Given the description of an element on the screen output the (x, y) to click on. 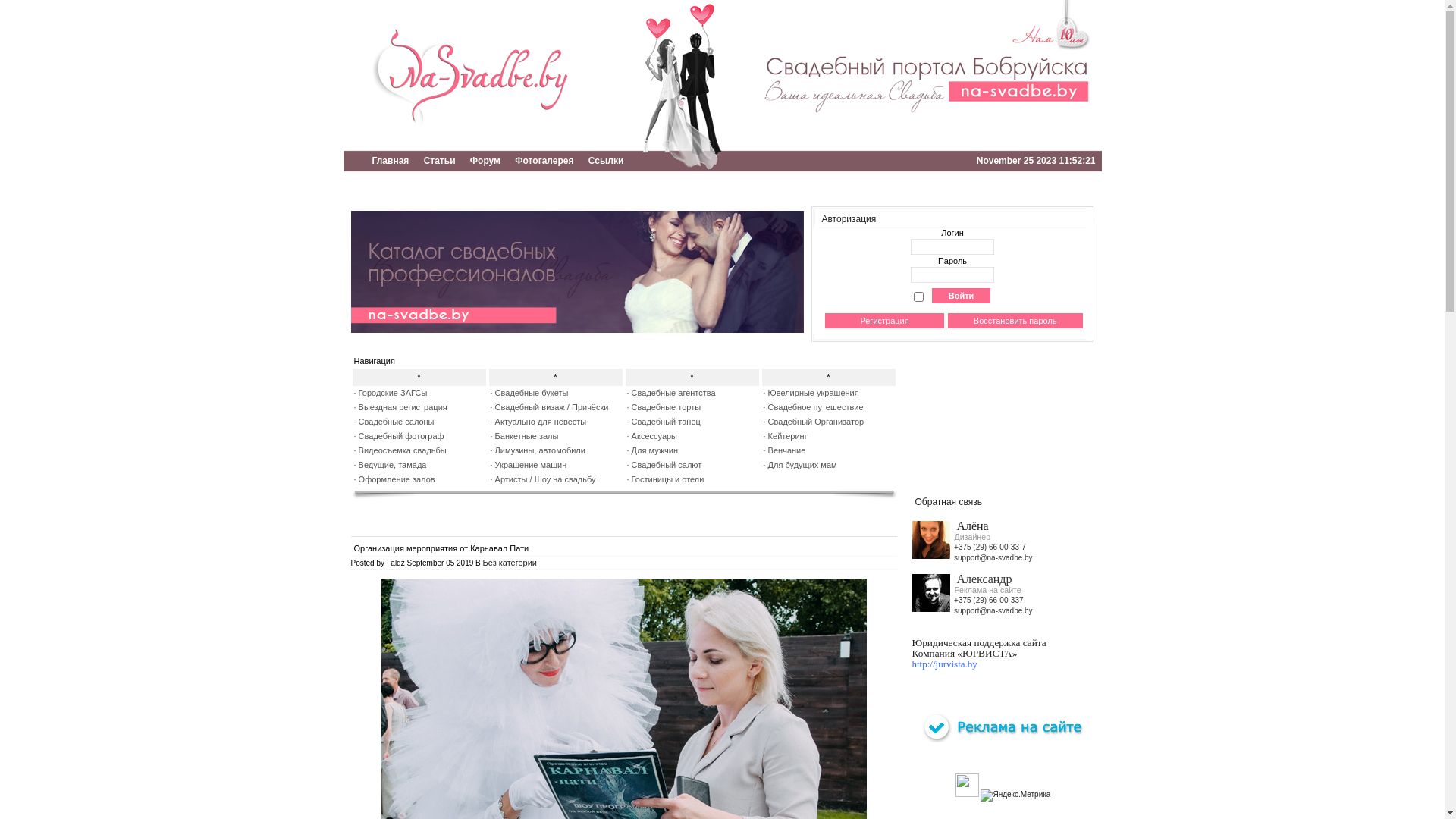
LiveInternet Element type: hover (967, 785)
3 Element type: text (396, 218)
4 Element type: text (415, 218)
2 Element type: text (378, 218)
1 Element type: text (358, 218)
